Given the description of an element on the screen output the (x, y) to click on. 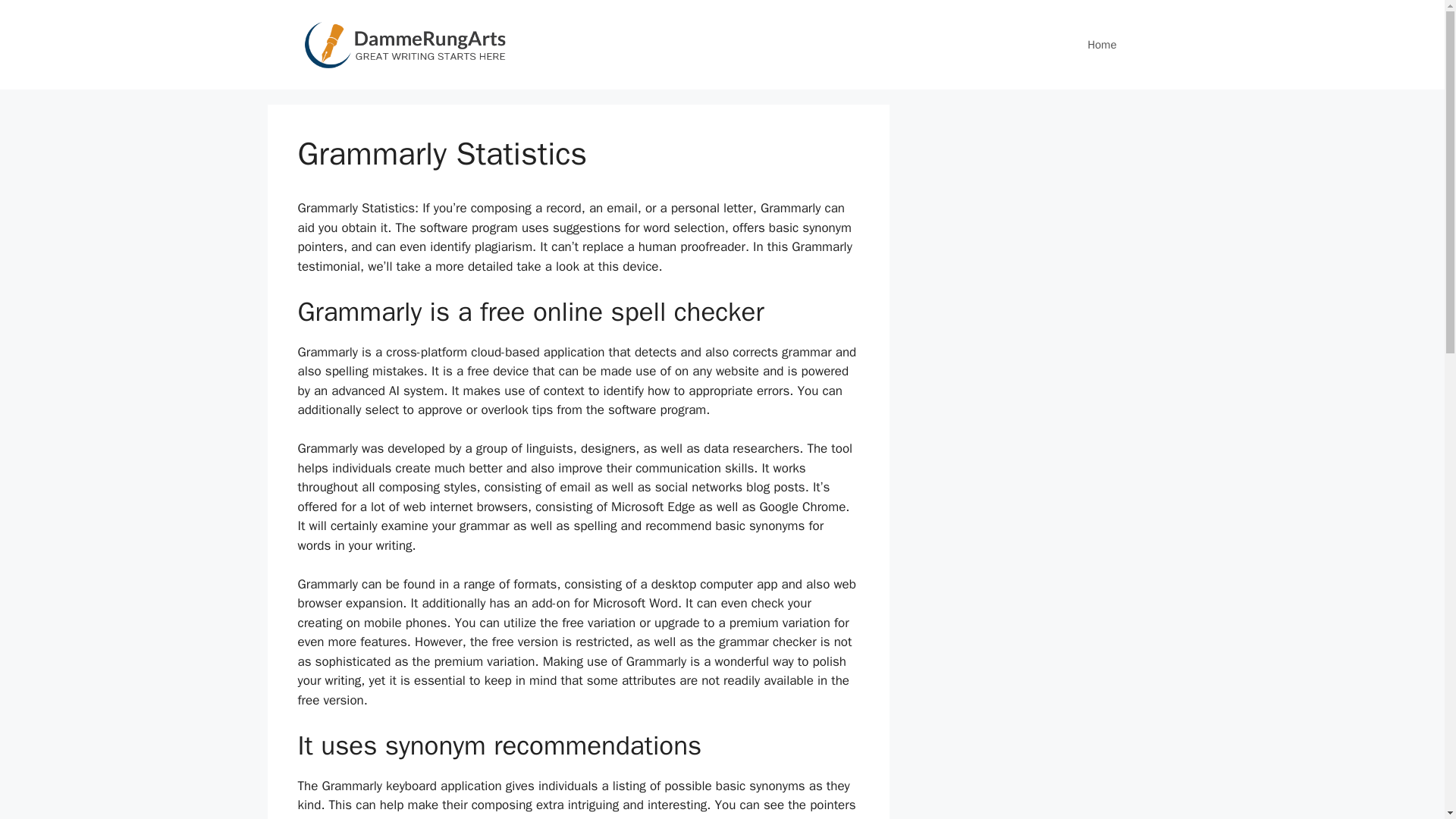
Home (1101, 44)
DammeRungArts Guide (403, 43)
DammeRungArts Guide (403, 44)
